Given the description of an element on the screen output the (x, y) to click on. 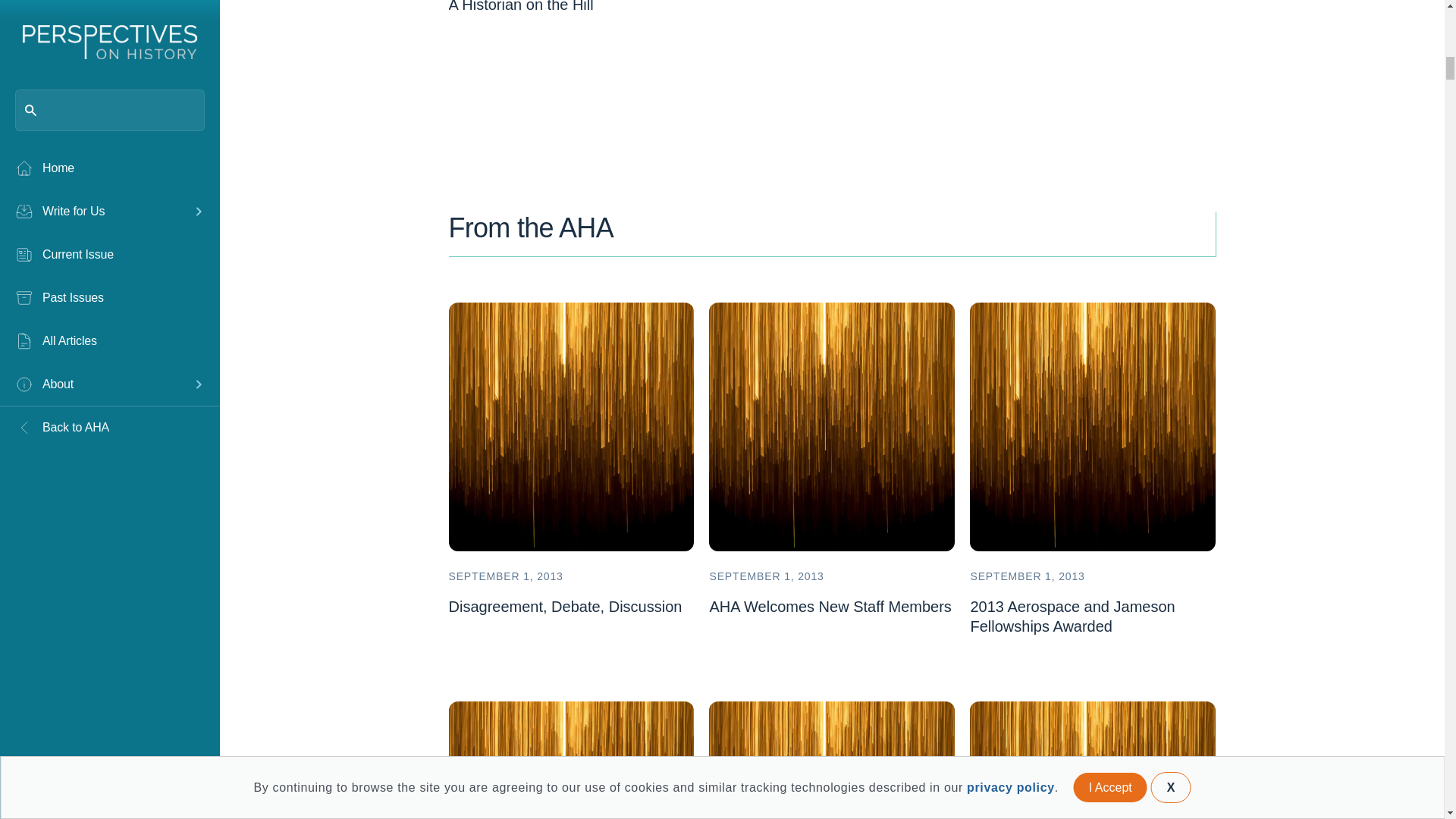
Disagreement, Debate, Discussion (565, 606)
2013 Aerospace and Jameson Fellowships Awarded (1071, 616)
AHA Welcomes New Staff Members (829, 606)
A Historian on the Hill (521, 6)
